Given the description of an element on the screen output the (x, y) to click on. 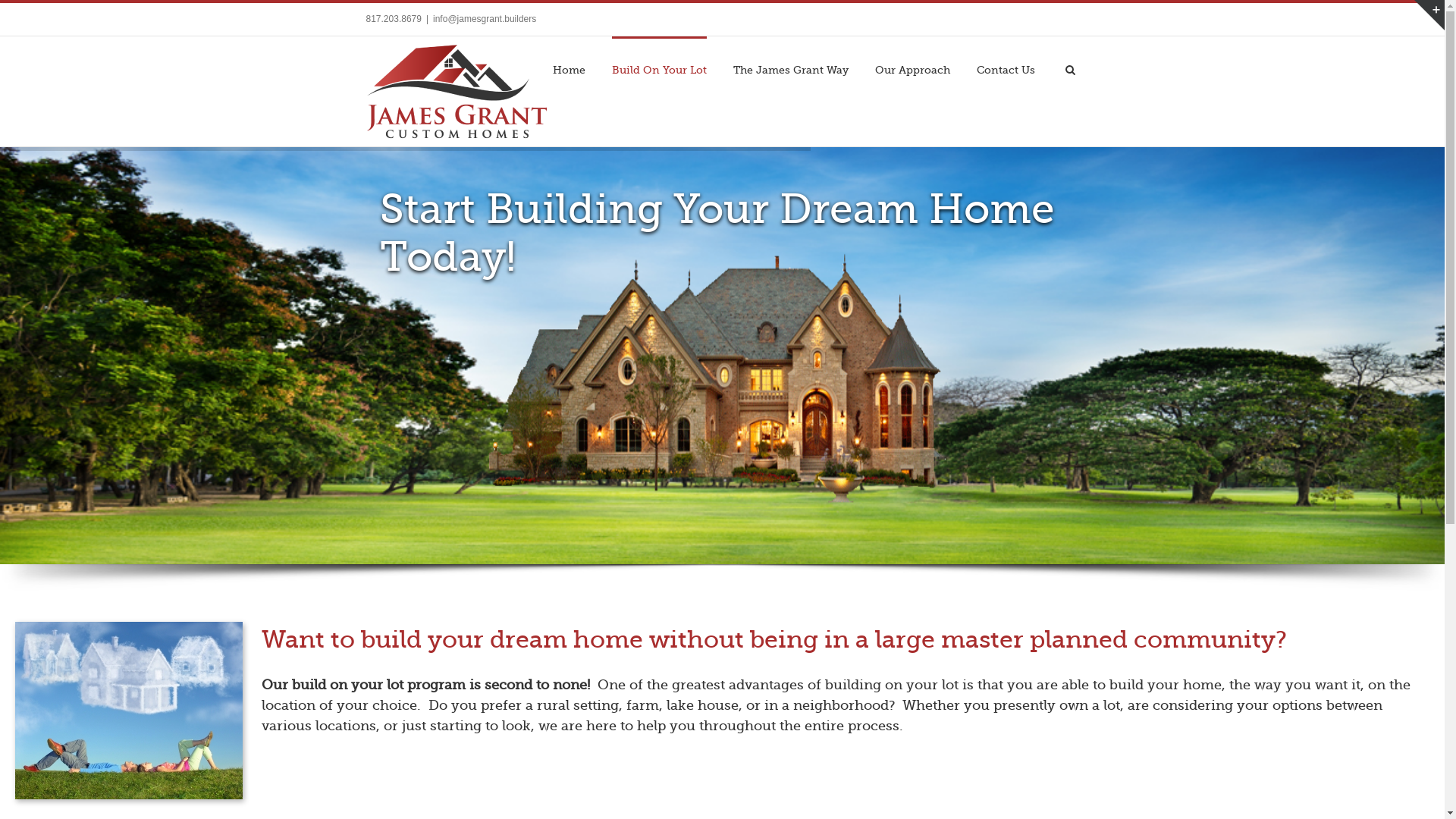
Our Approach Element type: text (912, 68)
Build On Your Lot Element type: text (658, 68)
The James Grant Way Element type: text (789, 68)
info@jamesgrant.builders Element type: text (484, 18)
Home Element type: text (568, 68)
Contact Us Element type: text (1005, 68)
